Given the description of an element on the screen output the (x, y) to click on. 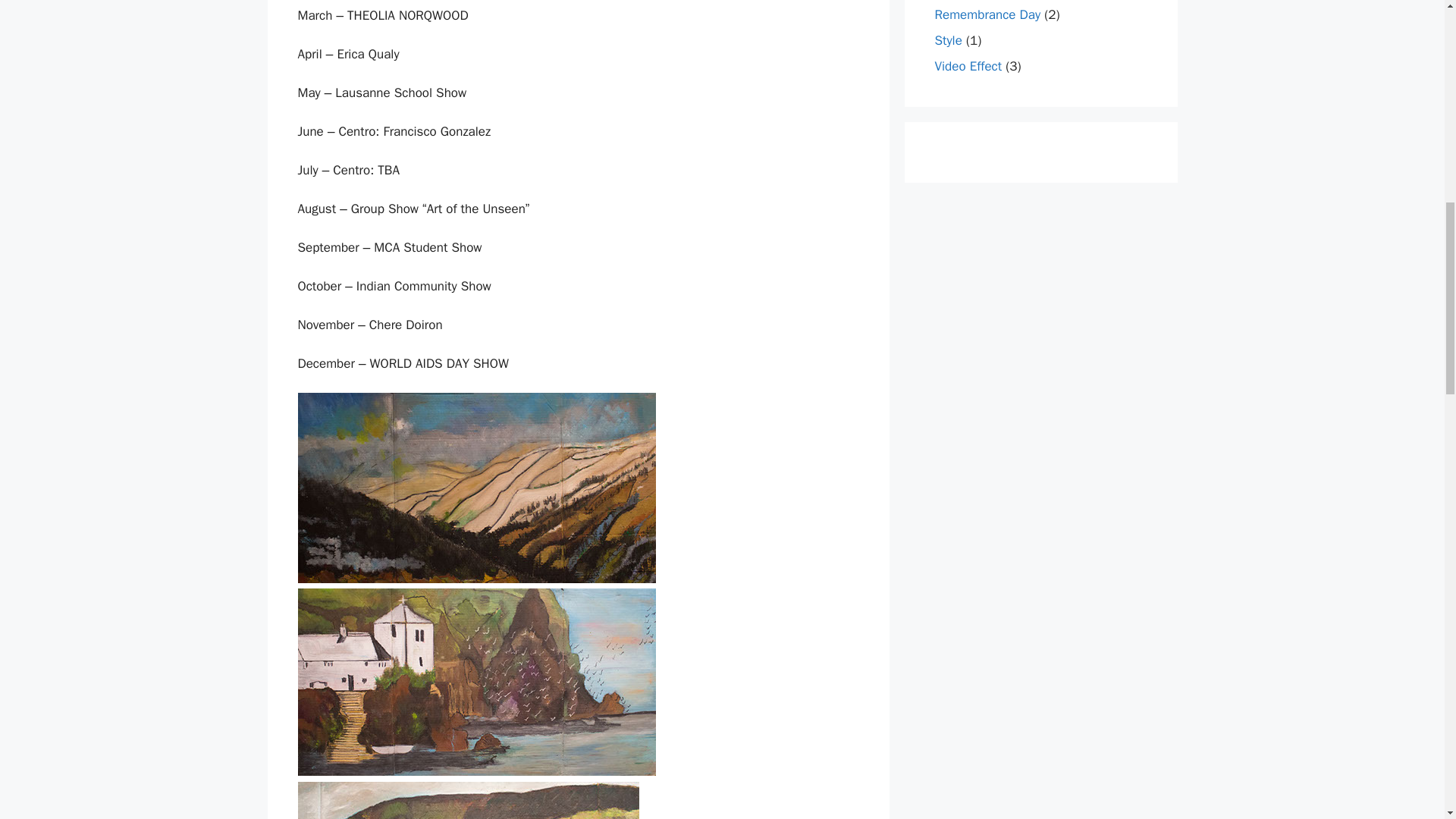
Video Effect (967, 66)
Style (947, 40)
Remembrance Day (987, 14)
